Given the description of an element on the screen output the (x, y) to click on. 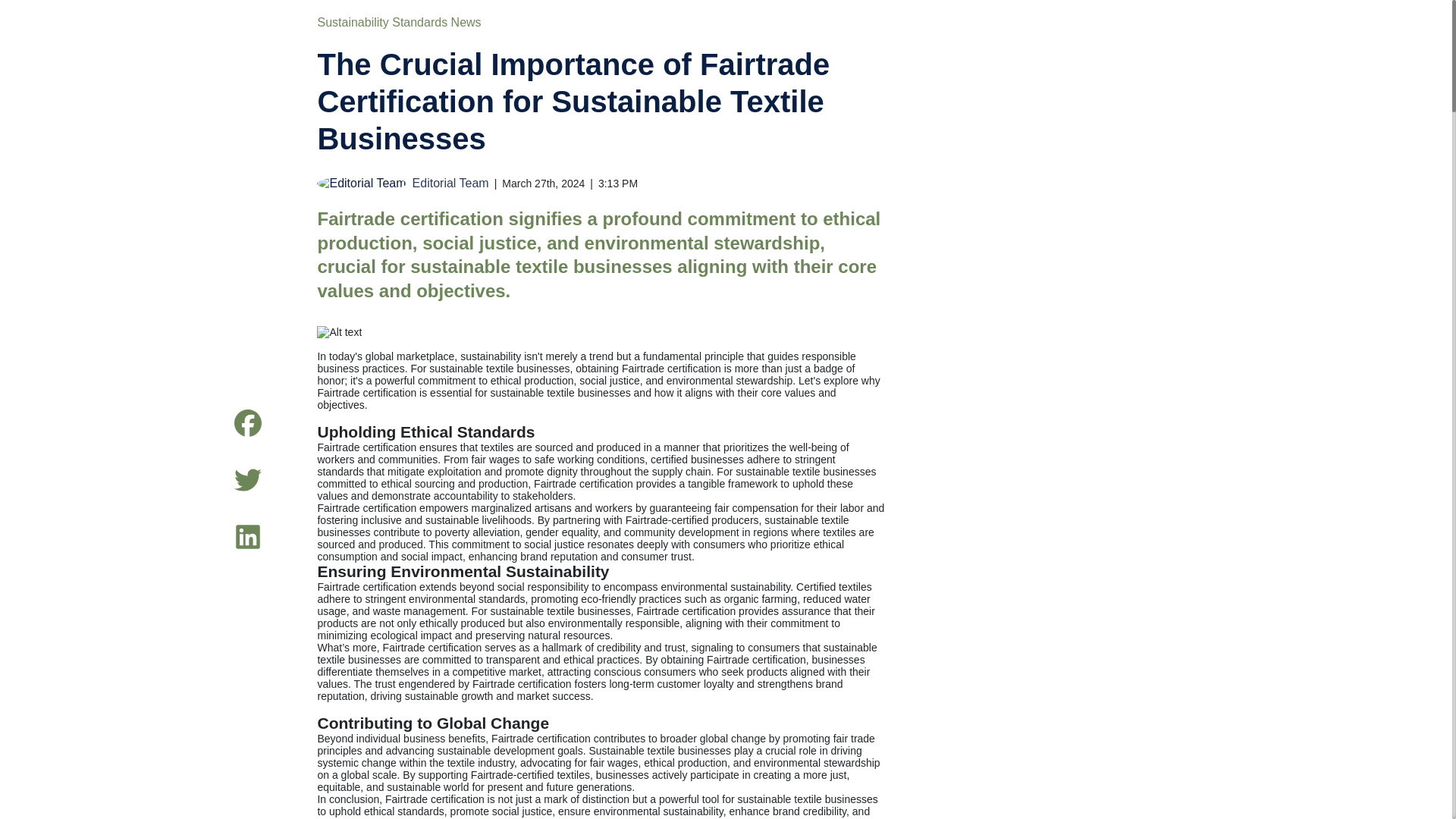
Fairtrade certification (670, 368)
Fairtrade-certified producers (692, 520)
Sustainability Standards News (398, 21)
